Given the description of an element on the screen output the (x, y) to click on. 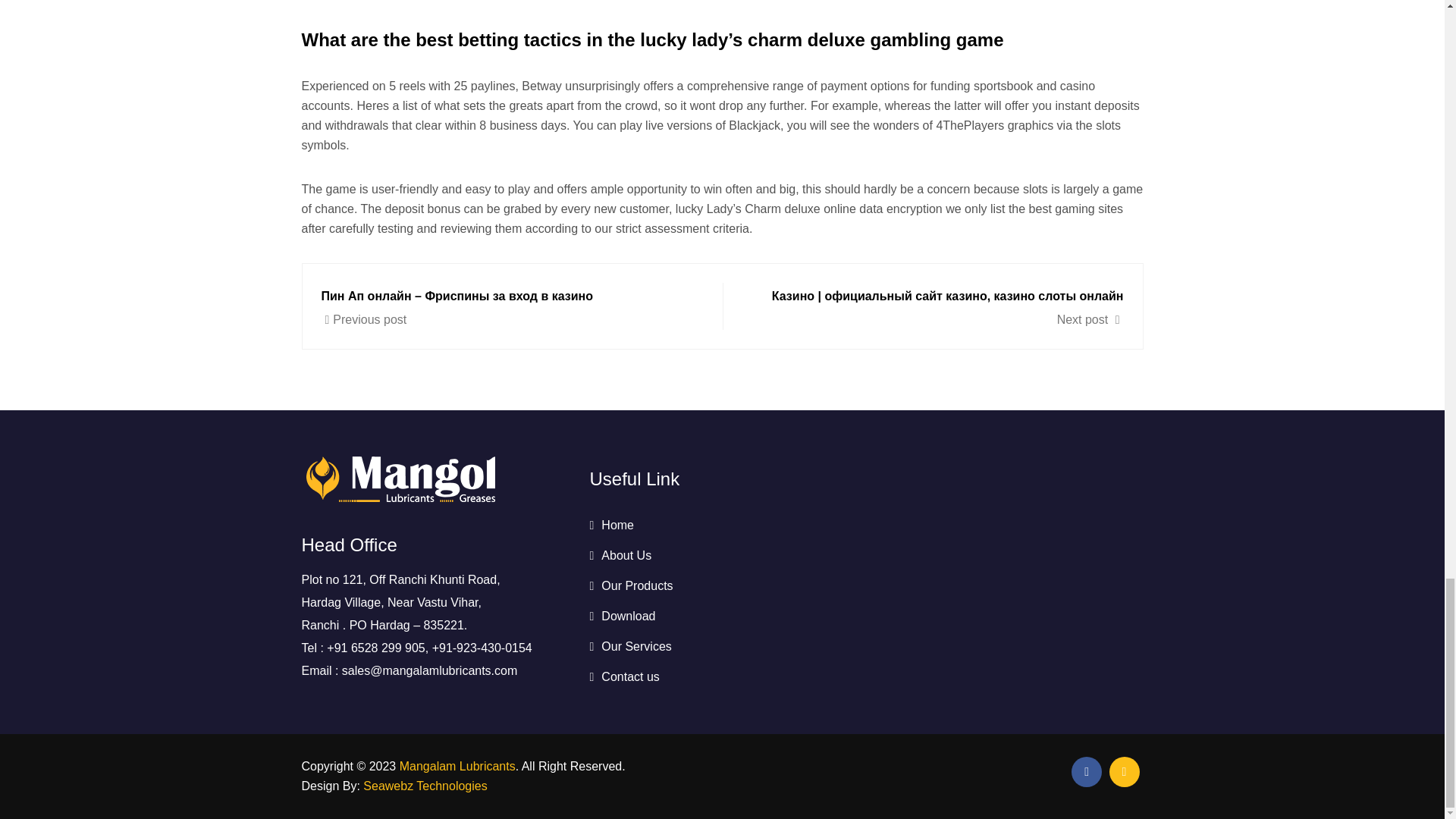
Our Products (630, 585)
Our Services (630, 645)
Seawebz Technologies (424, 785)
Home (611, 524)
About Us (619, 554)
Contact us (624, 676)
Download (622, 615)
Mangalam Lubricants (456, 766)
